Given the description of an element on the screen output the (x, y) to click on. 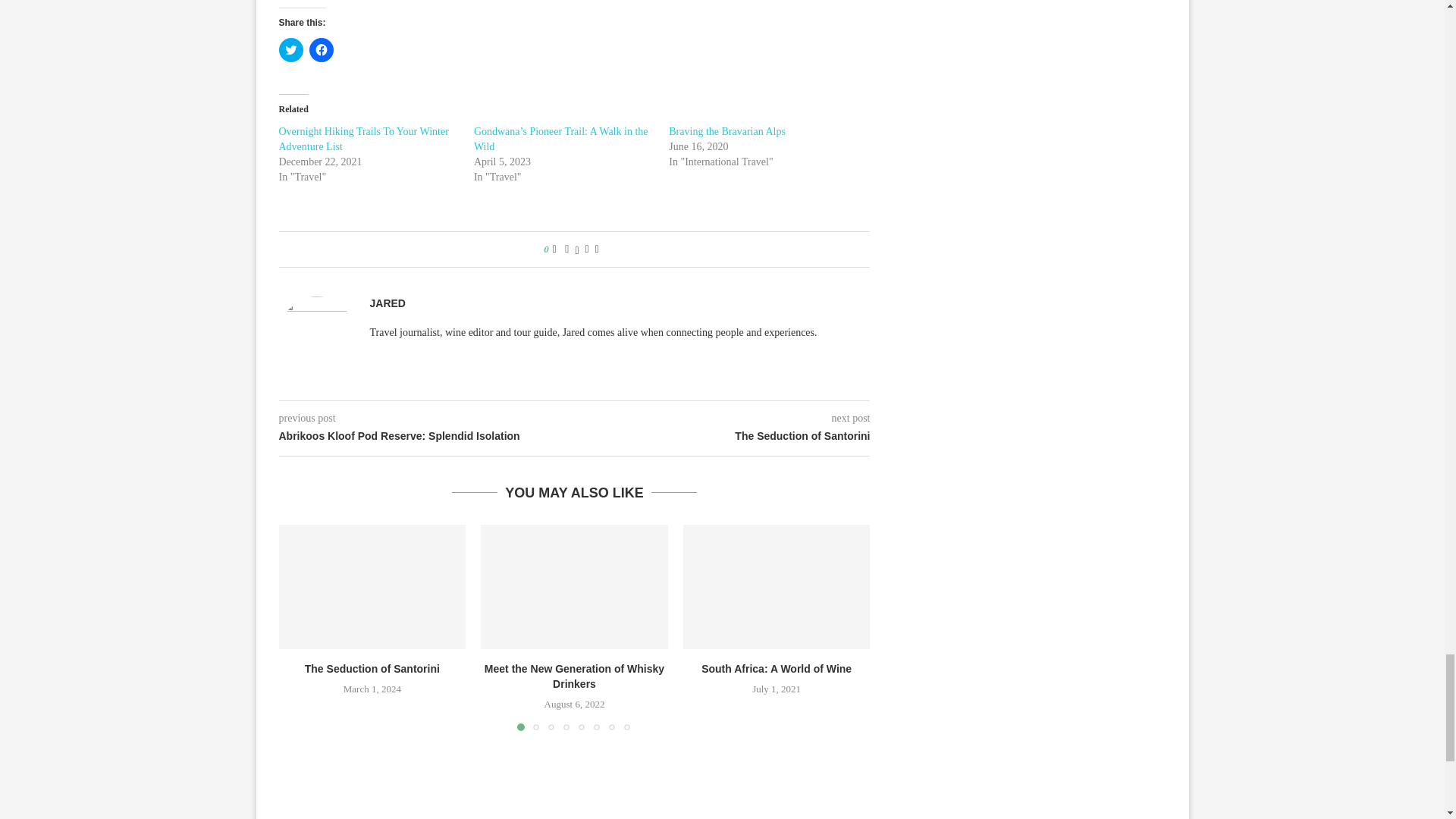
JARED (387, 303)
South Africa: A World of Wine (776, 586)
Author Jared (387, 303)
Meet the New Generation of Whisky Drinkers (574, 586)
The Seduction of Santorini (372, 586)
Braving the Bravarian Alps (727, 131)
Braving the Bravarian Alps (727, 131)
Overnight Hiking Trails To Your Winter Adventure List (363, 139)
Overnight Hiking Trails To Your Winter Adventure List (363, 139)
Click to share on Facebook (320, 49)
Like (554, 249)
Click to share on Twitter (290, 49)
